Given the description of an element on the screen output the (x, y) to click on. 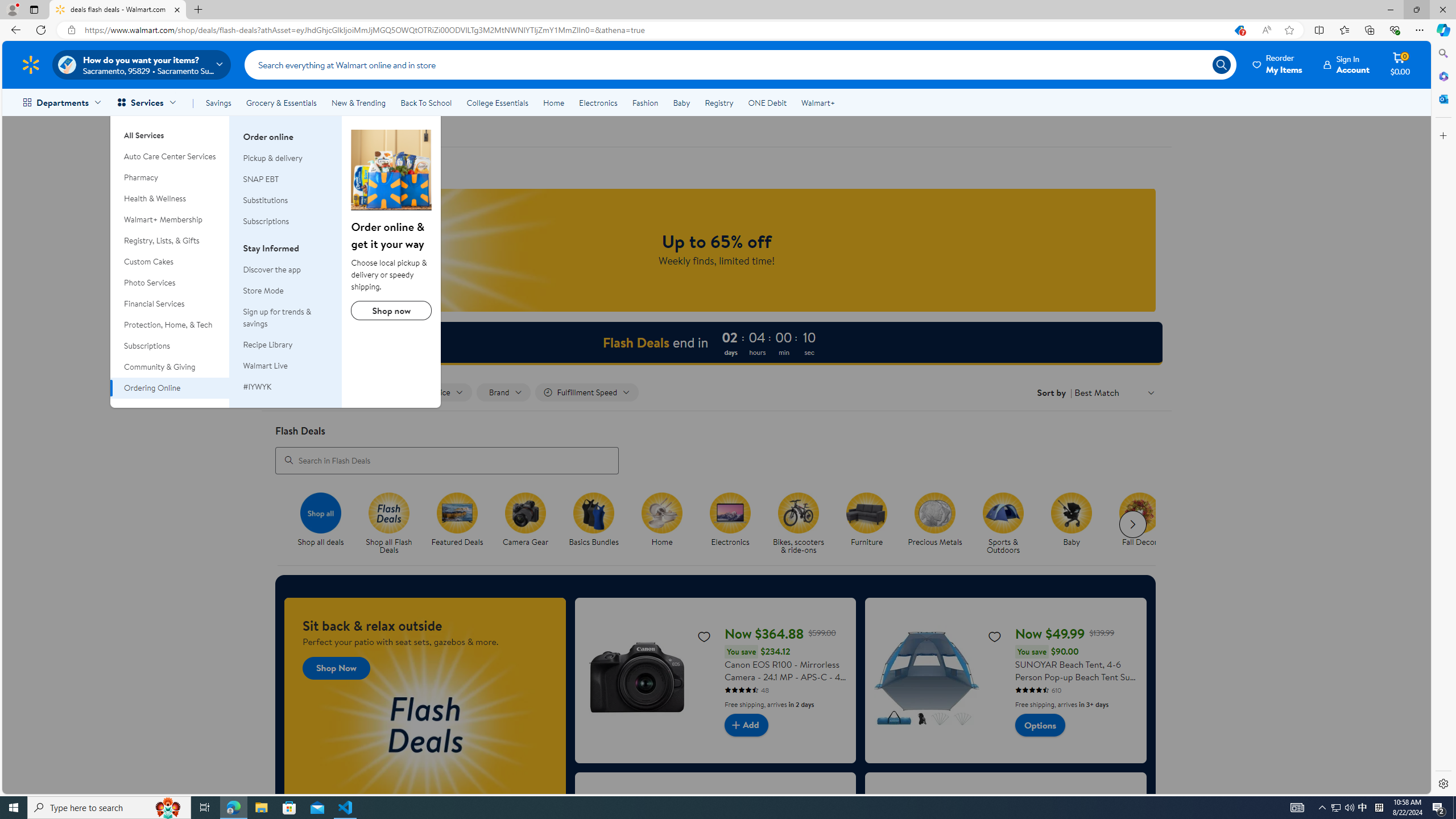
Auto Care Center Services (170, 156)
Fashion (644, 102)
Precious Metals Precious Metals (934, 519)
Protection, Home, & Tech (170, 324)
Auto Care Center Services (170, 156)
Ordering Online (170, 387)
Camera Gear Camera Gear (525, 519)
Next slide for chipModuleWithImages list (1133, 524)
#IYWYK (257, 386)
Electronics (730, 512)
Bikes, scooters & ride-ons (797, 512)
